Given the description of an element on the screen output the (x, y) to click on. 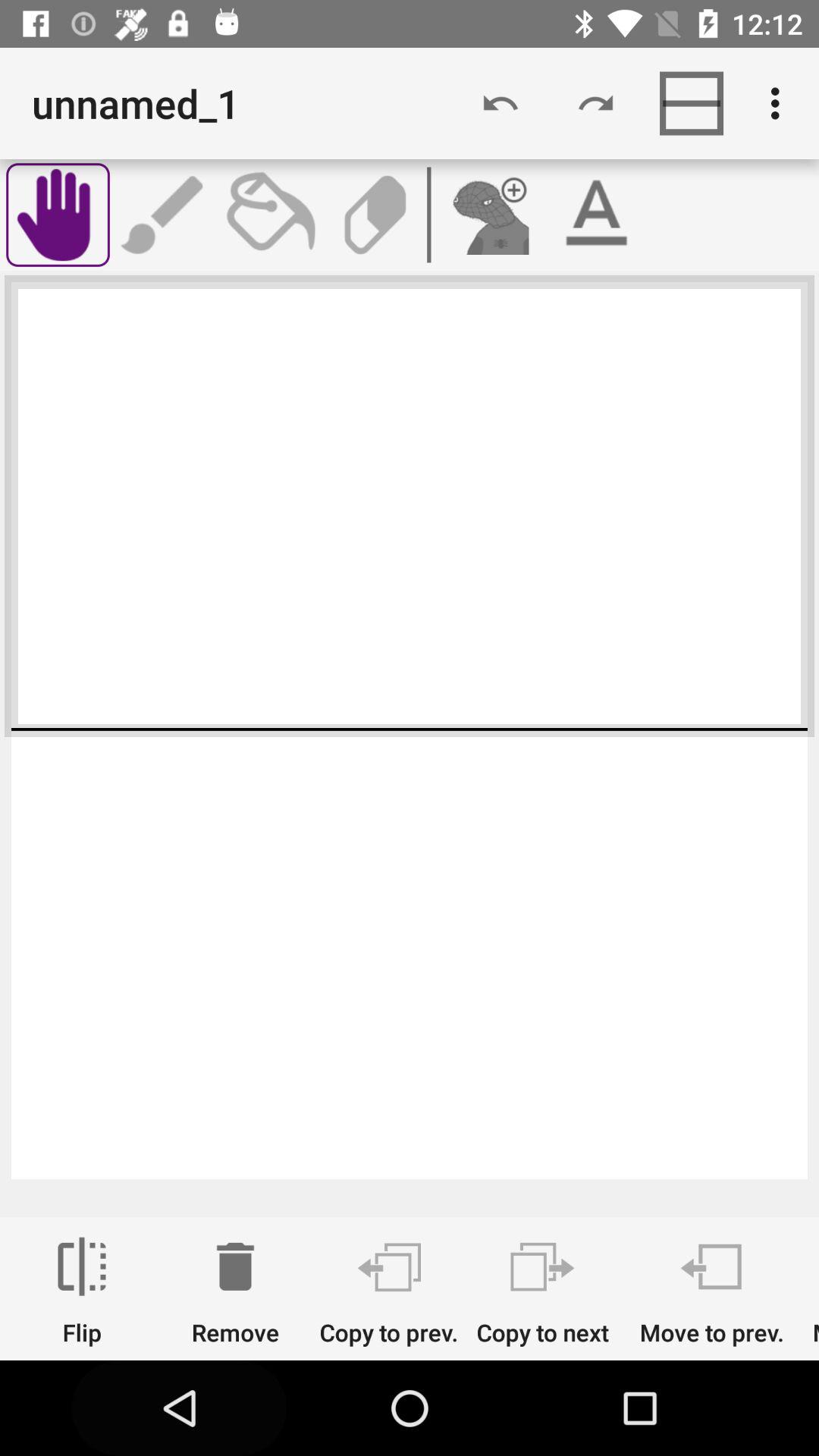
click the icon below the unnamed_1 icon (57, 214)
